Given the description of an element on the screen output the (x, y) to click on. 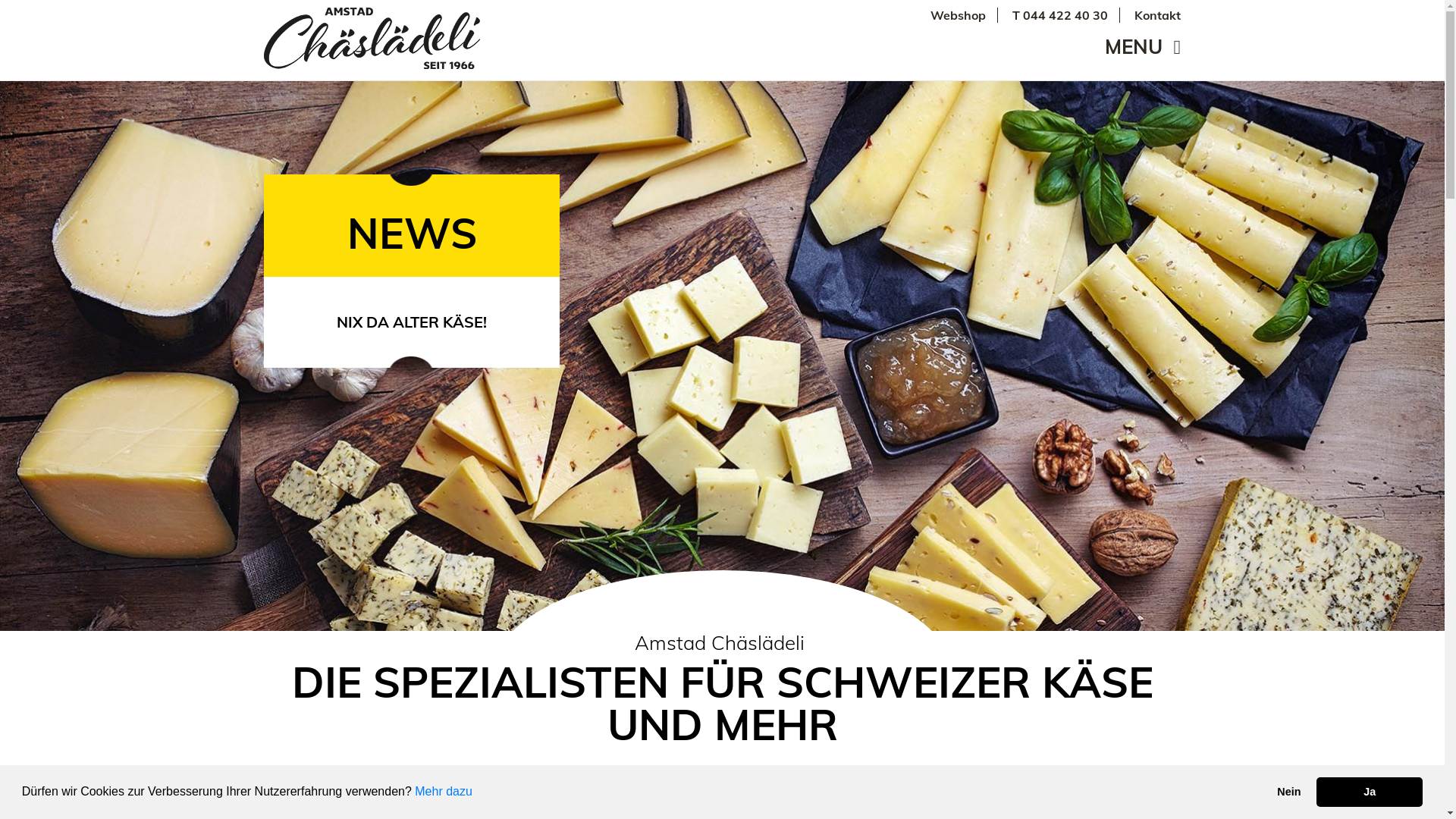
Kontakt Element type: text (1157, 14)
Ja Element type: text (1369, 791)
Webshop Element type: text (957, 14)
T 044 422 40 30 Element type: text (1059, 14)
Mehr dazu Element type: text (443, 790)
Nein Element type: text (1289, 791)
MENU Element type: text (1142, 47)
